Given the description of an element on the screen output the (x, y) to click on. 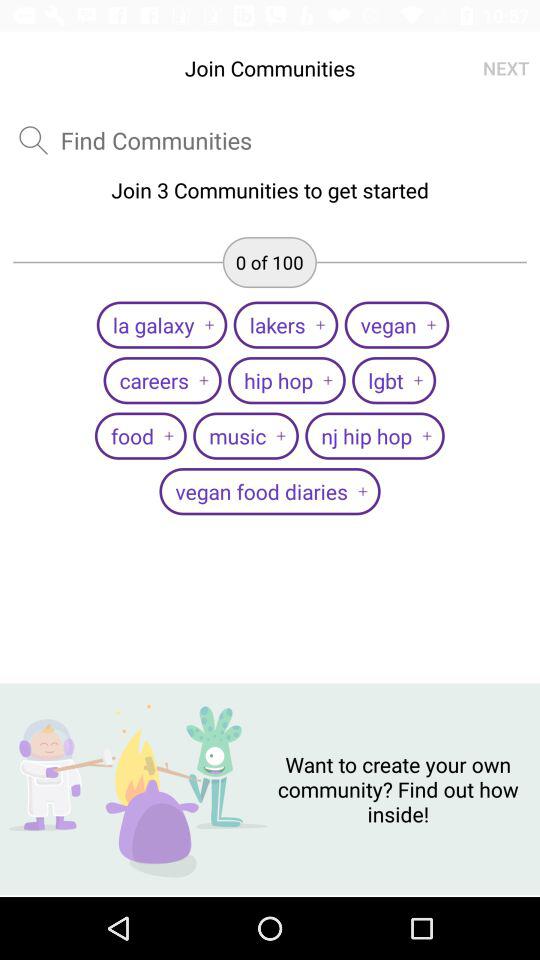
launch the icon next to the join communities icon (506, 67)
